Given the description of an element on the screen output the (x, y) to click on. 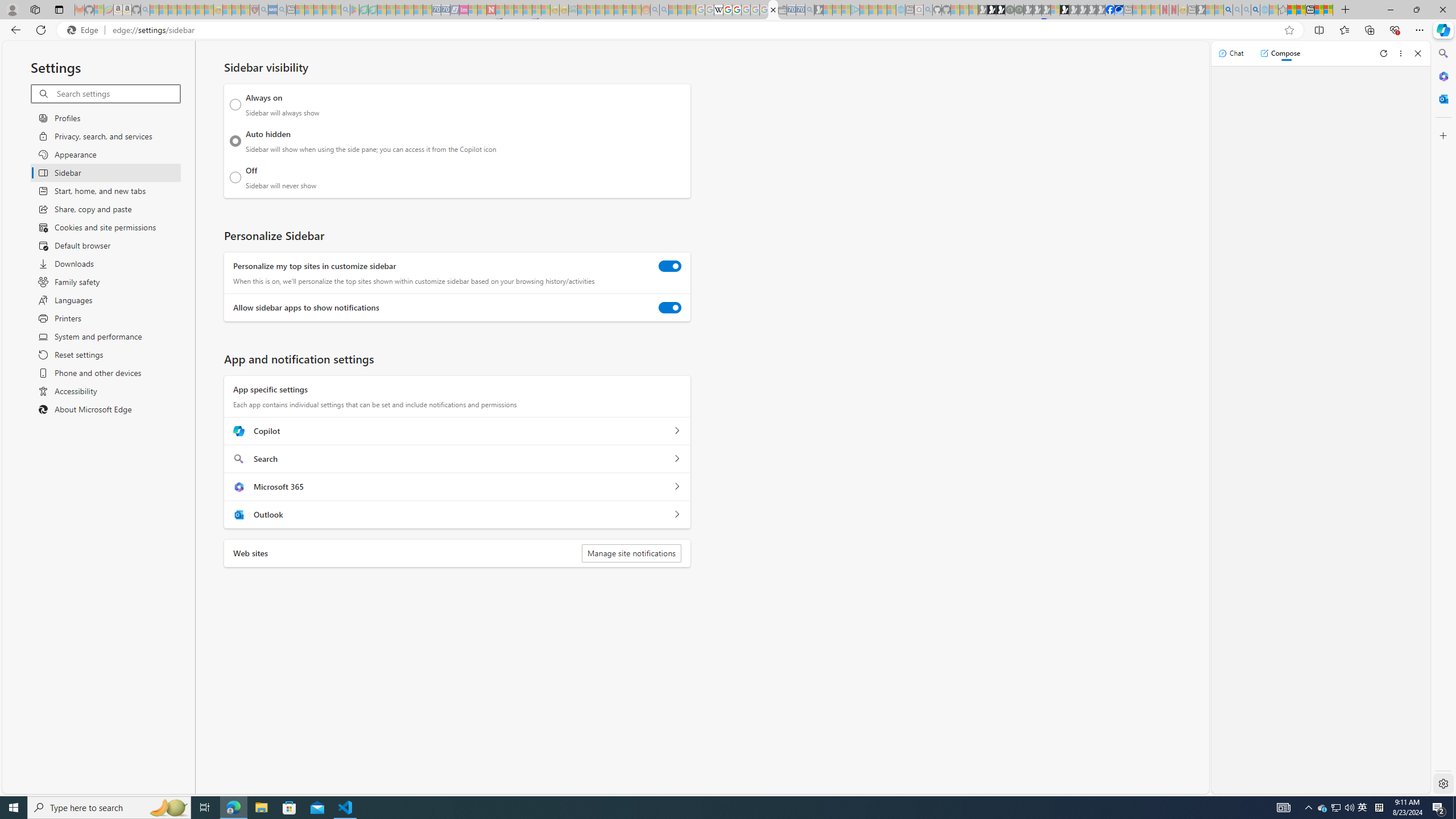
Compose (1279, 52)
Future Focus Report 2024 - Sleeping (1018, 9)
